Given the description of an element on the screen output the (x, y) to click on. 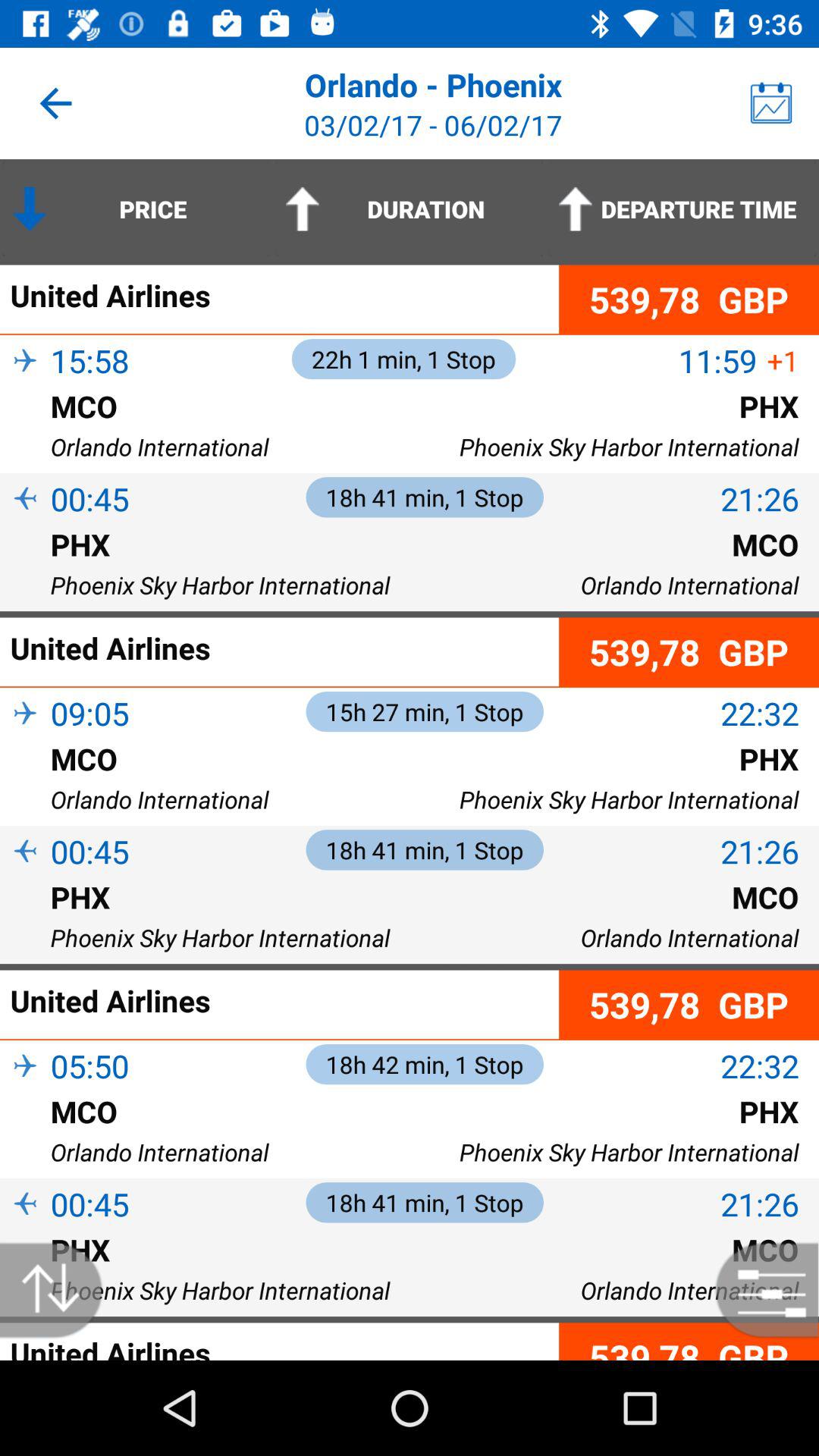
click item to the left of the mco icon (25, 783)
